Given the description of an element on the screen output the (x, y) to click on. 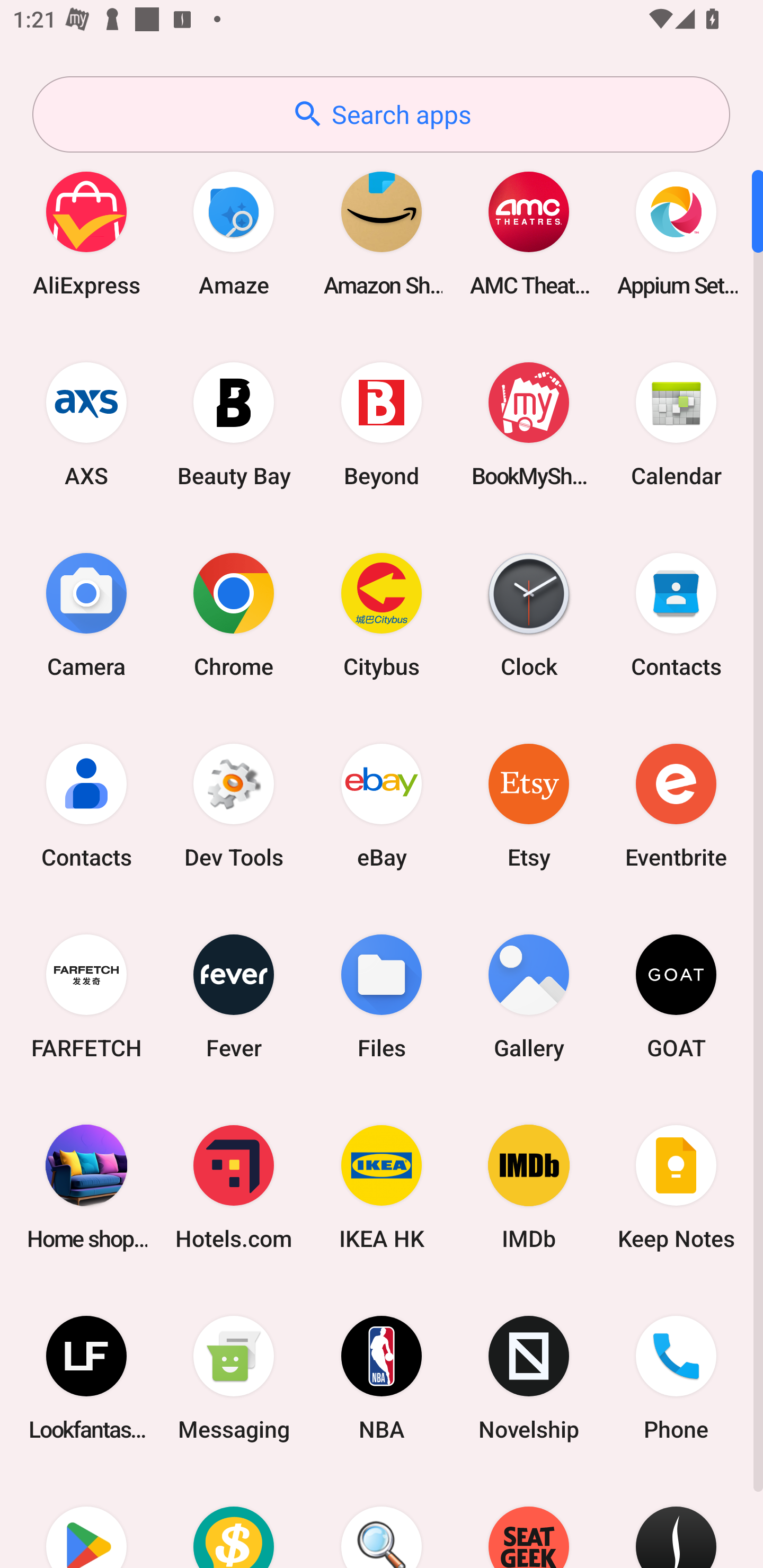
  Search apps (381, 114)
AliExpress (86, 233)
Amaze (233, 233)
Amazon Shopping (381, 233)
AMC Theatres (528, 233)
Appium Settings (676, 233)
AXS (86, 424)
Beauty Bay (233, 424)
Beyond (381, 424)
BookMyShow (528, 424)
Calendar (676, 424)
Camera (86, 614)
Chrome (233, 614)
Citybus (381, 614)
Clock (528, 614)
Contacts (676, 614)
Contacts (86, 805)
Dev Tools (233, 805)
eBay (381, 805)
Etsy (528, 805)
Eventbrite (676, 805)
FARFETCH (86, 996)
Fever (233, 996)
Files (381, 996)
Gallery (528, 996)
GOAT (676, 996)
Home shopping (86, 1186)
Hotels.com (233, 1186)
IKEA HK (381, 1186)
IMDb (528, 1186)
Keep Notes (676, 1186)
Lookfantastic (86, 1377)
Messaging (233, 1377)
NBA (381, 1377)
Novelship (528, 1377)
Phone (676, 1377)
